Given the description of an element on the screen output the (x, y) to click on. 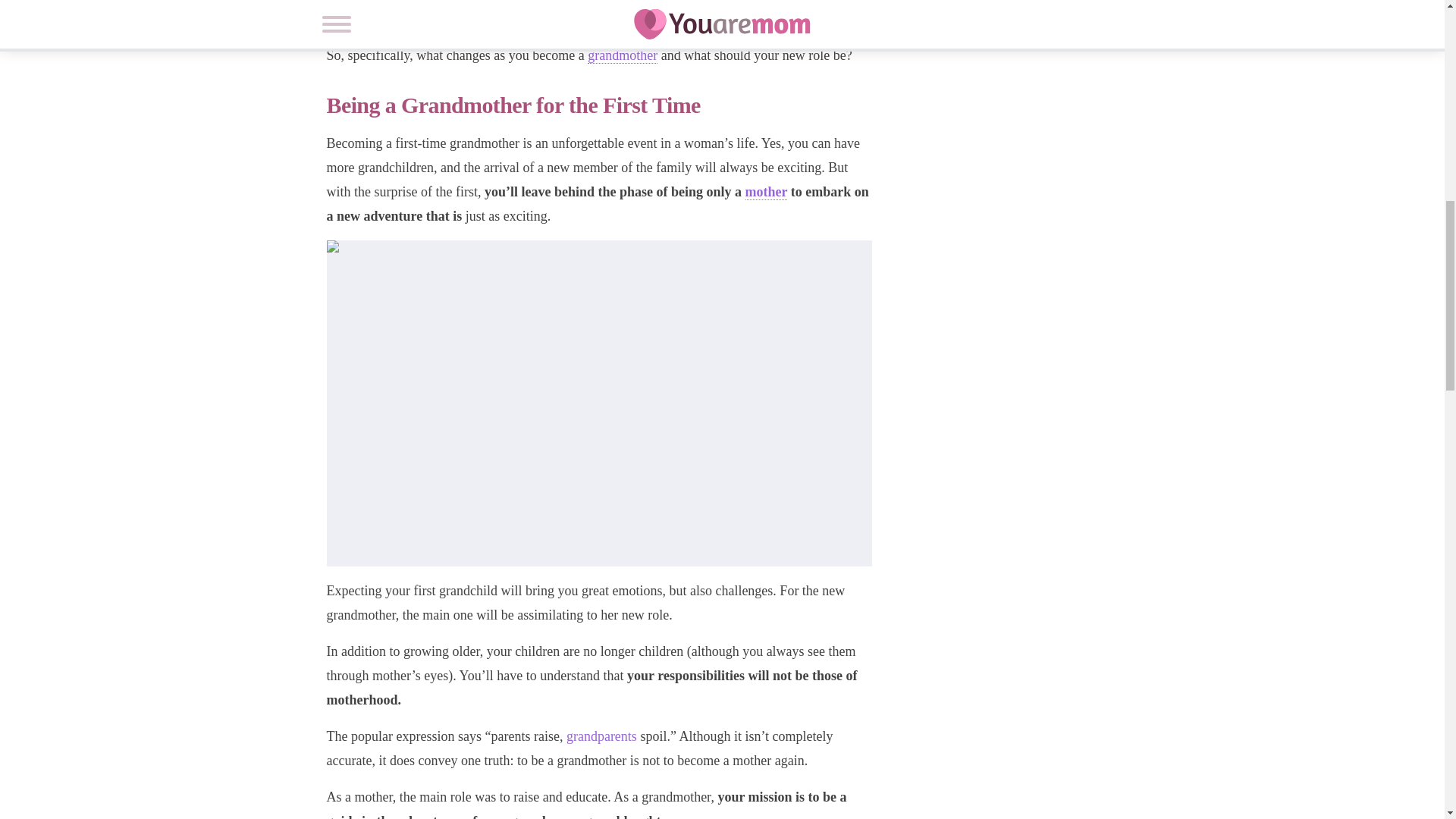
grandmother (623, 55)
grandparents (601, 735)
mother (766, 191)
